Given the description of an element on the screen output the (x, y) to click on. 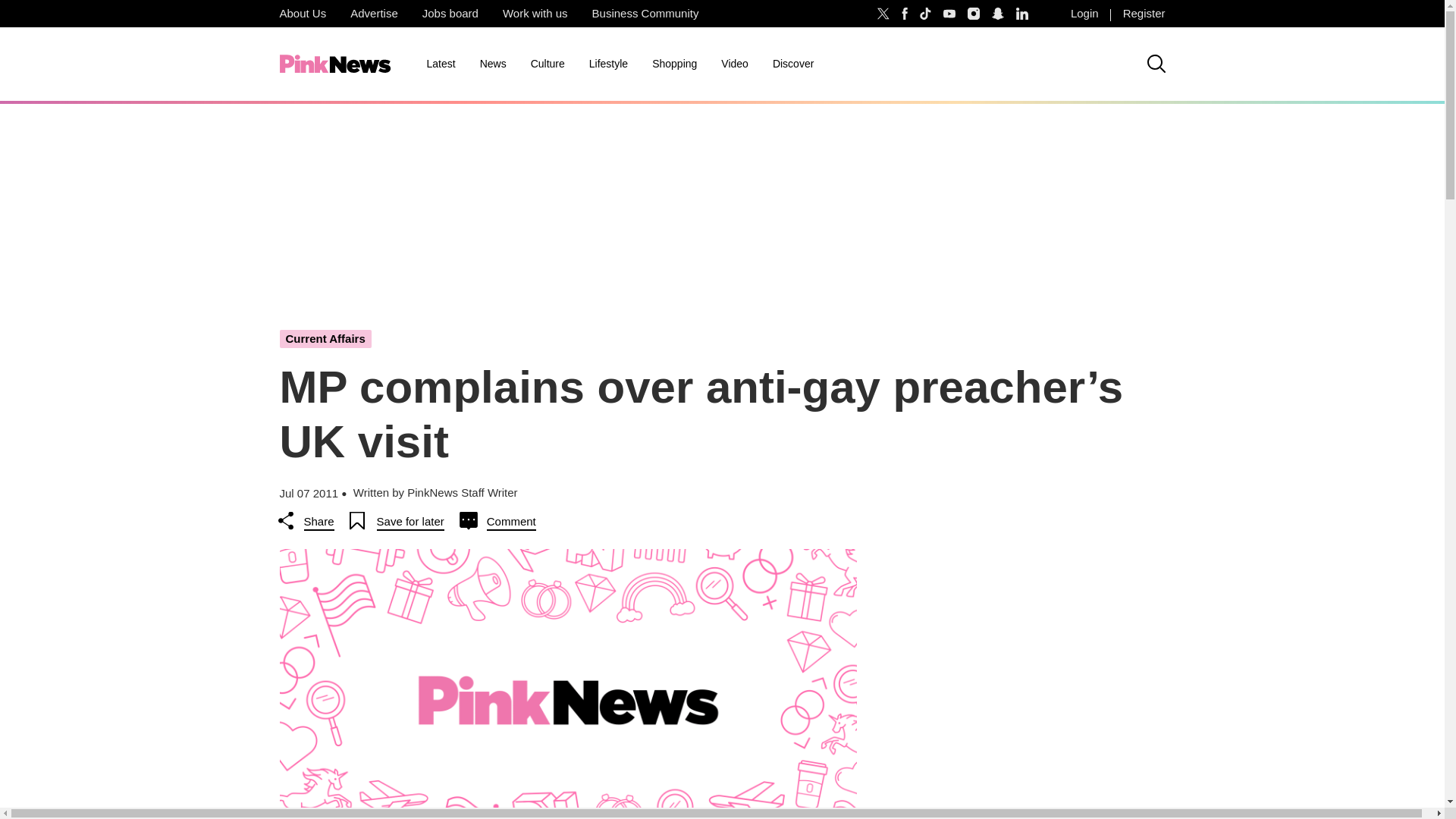
Lifestyle (608, 63)
Culture (547, 63)
Follow PinkNews on LinkedIn (1021, 13)
Business Community (645, 13)
Register (1143, 13)
Latest (440, 63)
Login (1084, 13)
Jobs board (450, 13)
News (493, 63)
Advertise (373, 13)
